Given the description of an element on the screen output the (x, y) to click on. 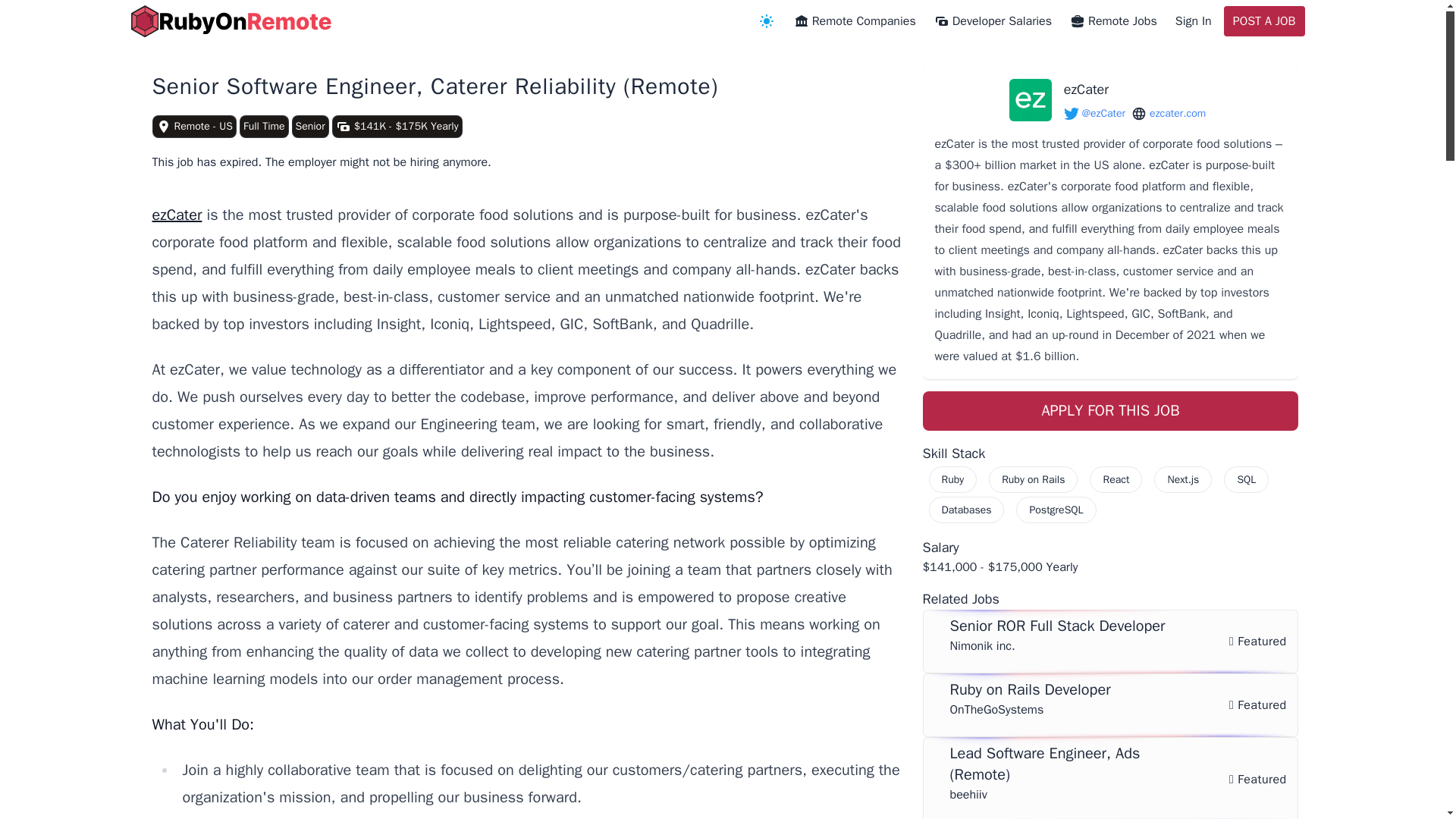
React (1115, 479)
APPLY FOR THIS JOB (1109, 410)
Full Time (264, 126)
Developer Salaries (993, 21)
SQL (1246, 479)
ezcater.com (1168, 113)
Remote Jobs (1113, 21)
Next.js (1182, 479)
Remote - US (193, 126)
PostgreSQL (1056, 509)
